Given the description of an element on the screen output the (x, y) to click on. 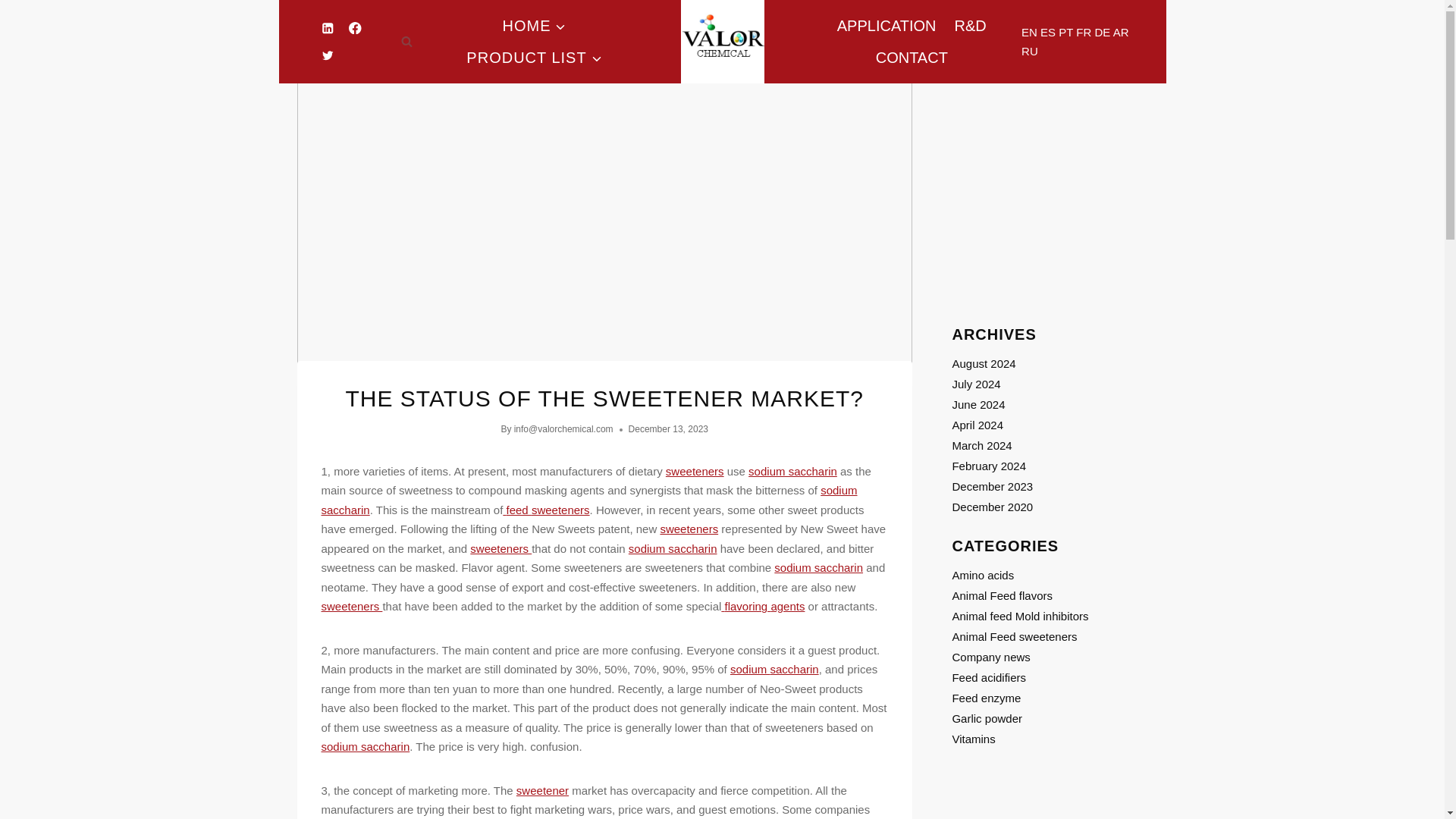
EN (1029, 31)
PT (1064, 31)
saccharin (345, 509)
DE (1102, 31)
sodium saccharin (792, 471)
ES (1048, 31)
sweeteners (694, 471)
sweeteners (500, 548)
sweeteners (560, 509)
FR (1082, 31)
